Given the description of an element on the screen output the (x, y) to click on. 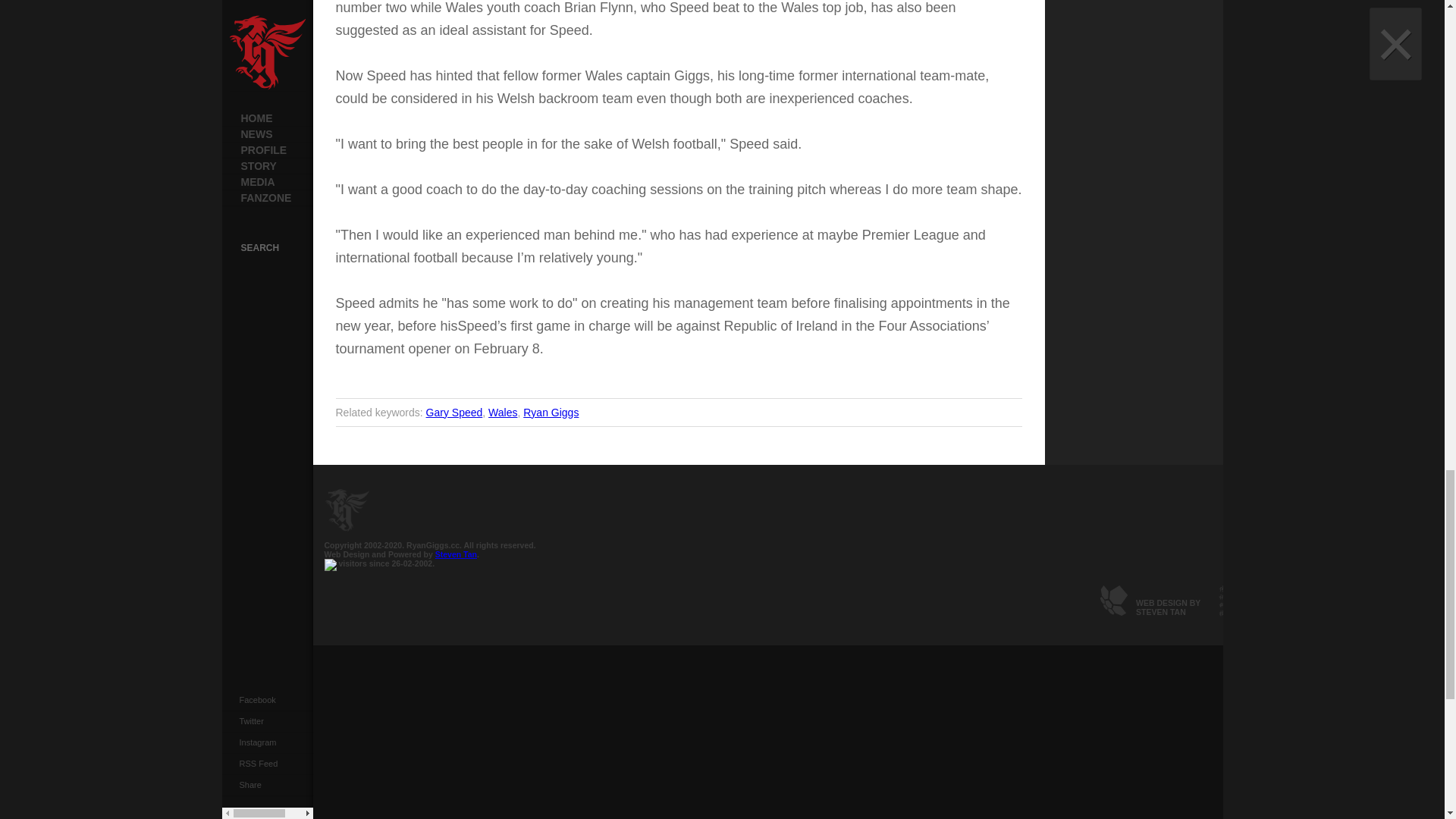
ITWIN Technology Sdn Bhd (1256, 611)
Steven Tan Official Website (1145, 611)
Ryan Giggs (550, 412)
Wales (501, 412)
Gary Speed (454, 412)
